Given the description of an element on the screen output the (x, y) to click on. 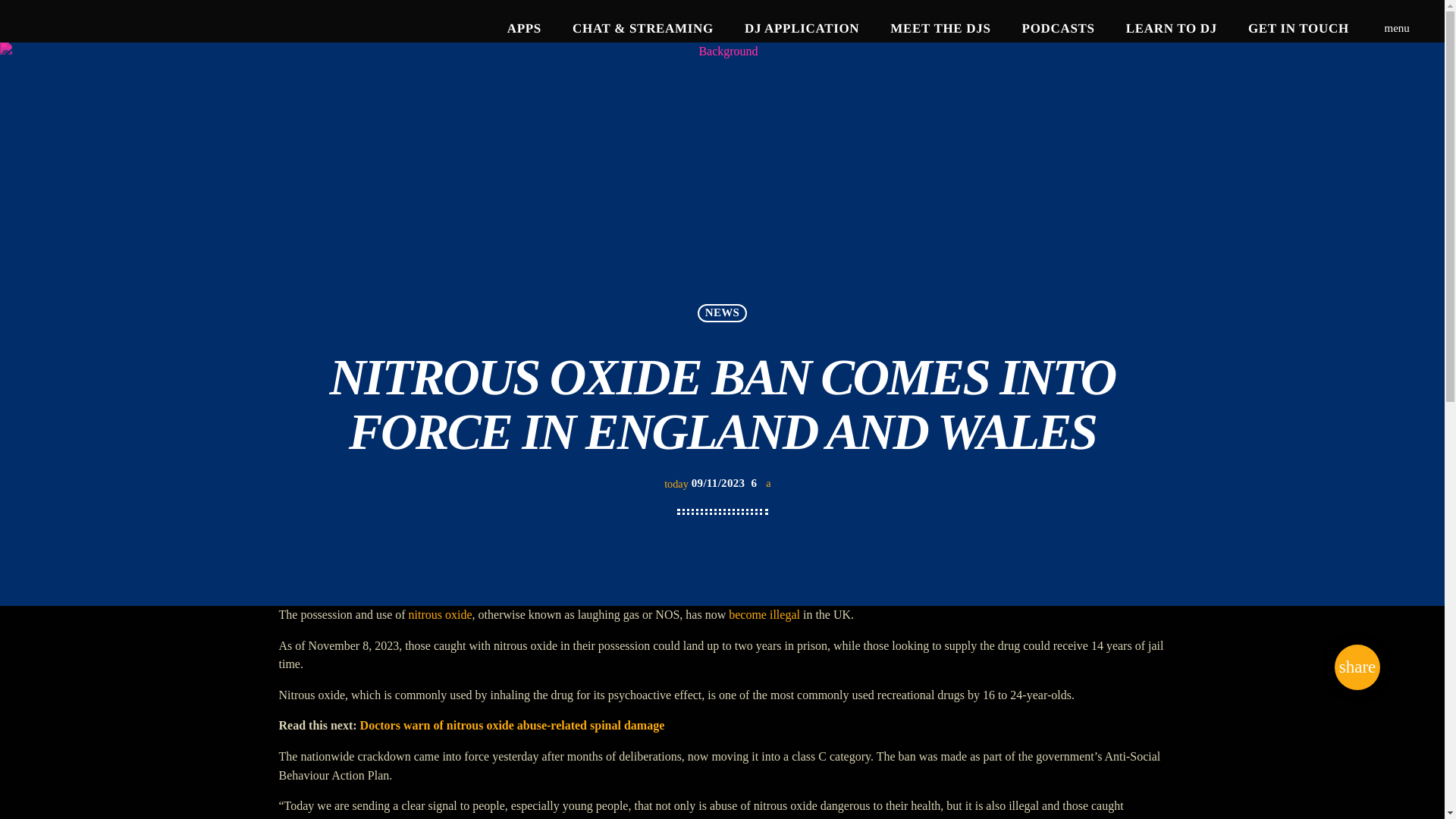
APPS (524, 29)
MEET THE DJS (940, 29)
nitrous oxide (440, 614)
DJ APPLICATION (802, 29)
GET IN TOUCH (1297, 29)
menu (1396, 28)
NEWS (721, 312)
PODCASTS (1057, 29)
LEARN TO DJ (1170, 29)
email (1357, 666)
